Given the description of an element on the screen output the (x, y) to click on. 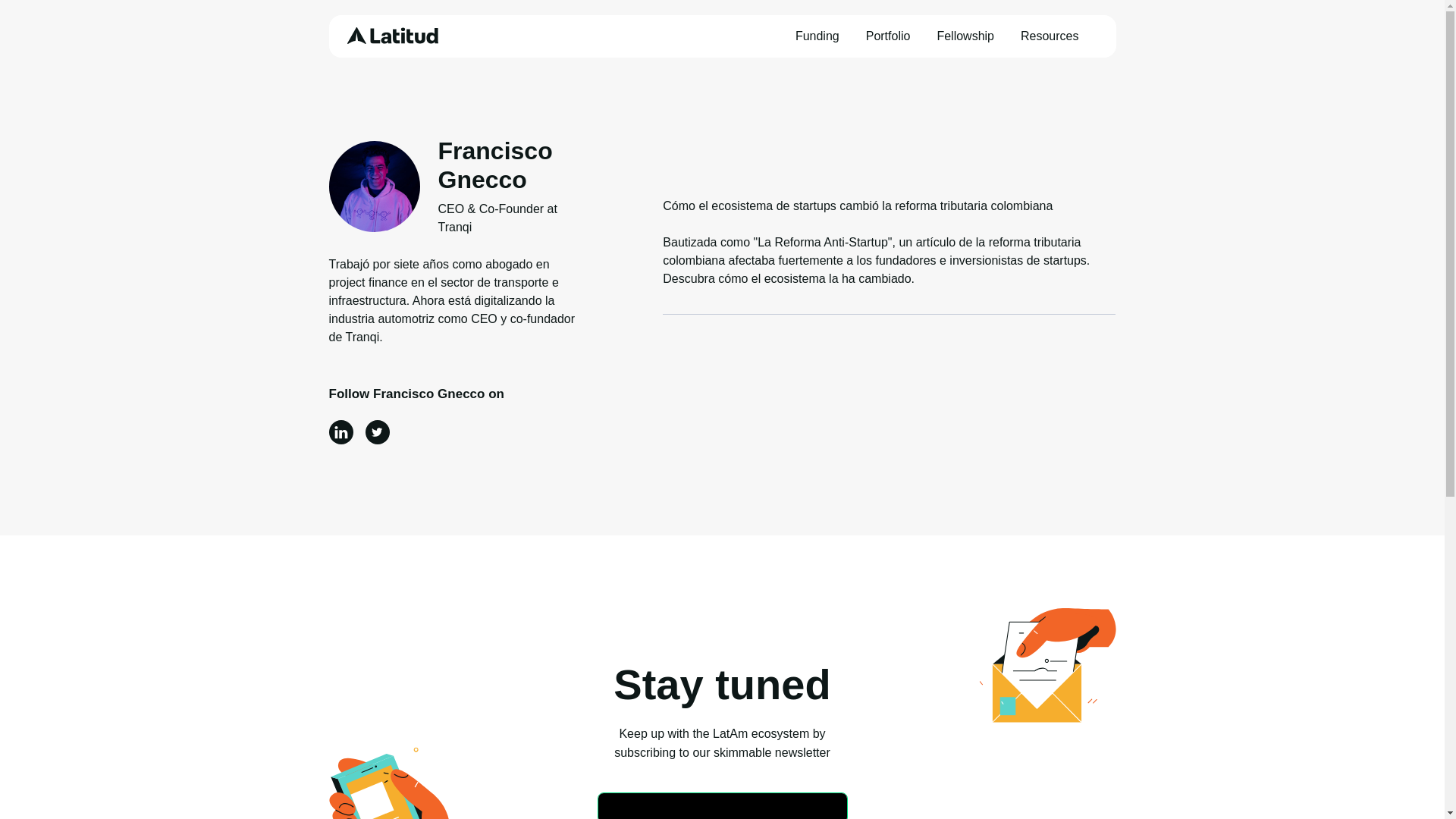
Portfolio (890, 36)
Fellowship (966, 36)
Funding (819, 36)
